Given the description of an element on the screen output the (x, y) to click on. 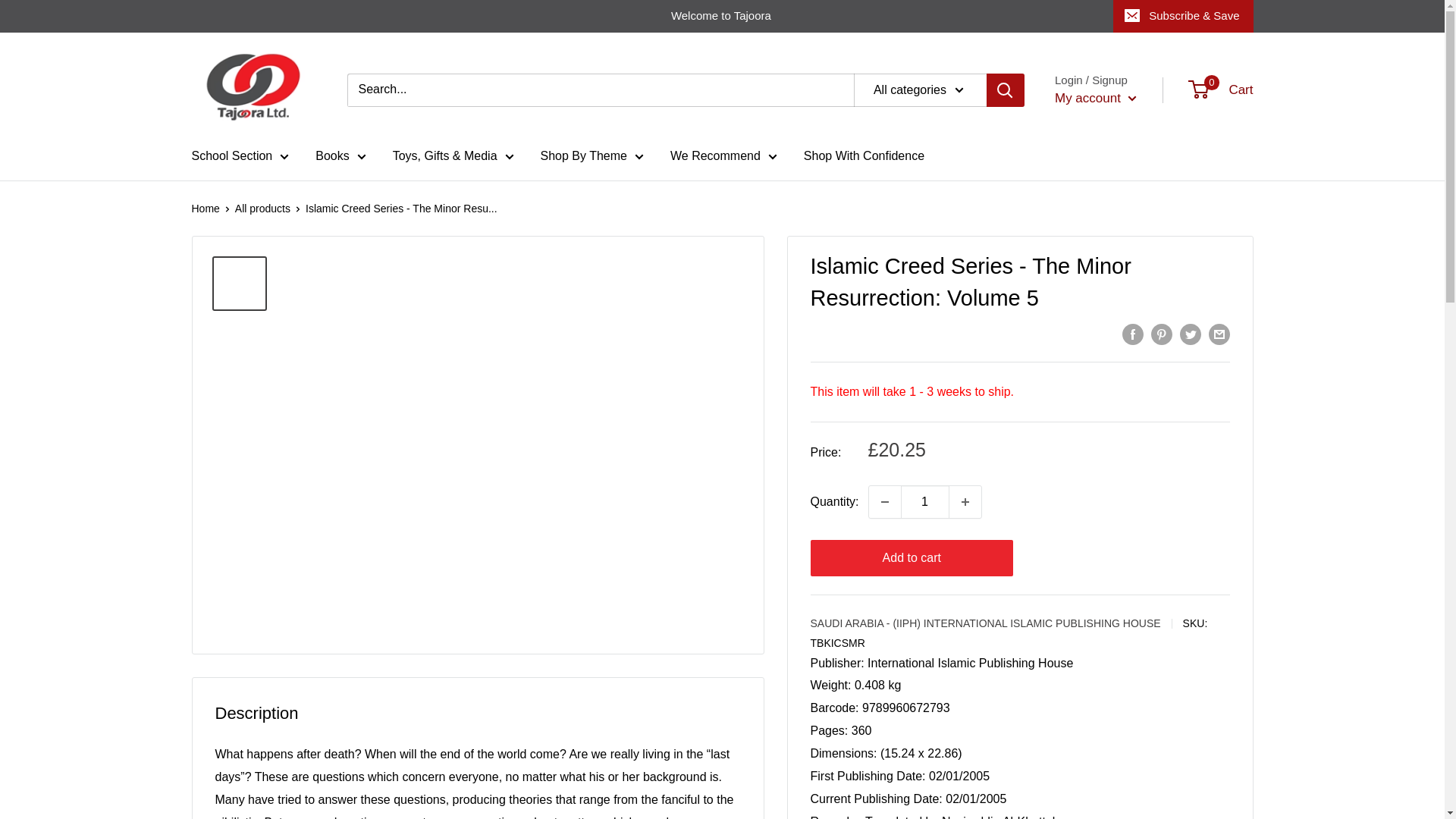
1 (925, 501)
Welcome to Tajoora (652, 15)
Decrease quantity by 1 (885, 501)
Increase quantity by 1 (965, 501)
